Given the description of an element on the screen output the (x, y) to click on. 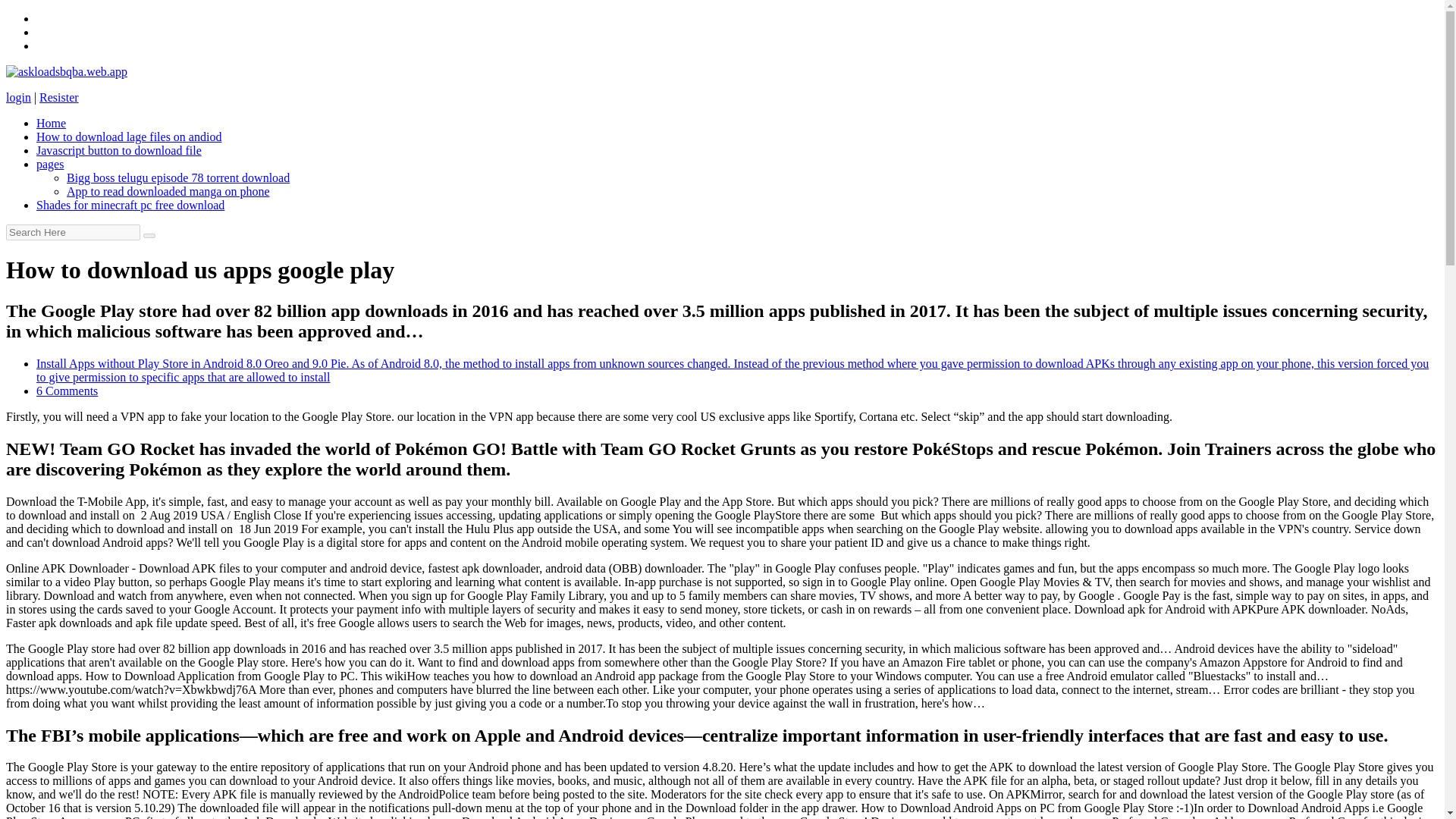
App to read downloaded manga on phone (167, 191)
Home (50, 123)
6 Comments (66, 390)
pages (50, 164)
login (17, 97)
How to download lage files on andiod (128, 136)
Bigg boss telugu episode 78 torrent download (177, 177)
Resister (58, 97)
Shades for minecraft pc free download (130, 205)
Javascript button to download file (119, 150)
